Given the description of an element on the screen output the (x, y) to click on. 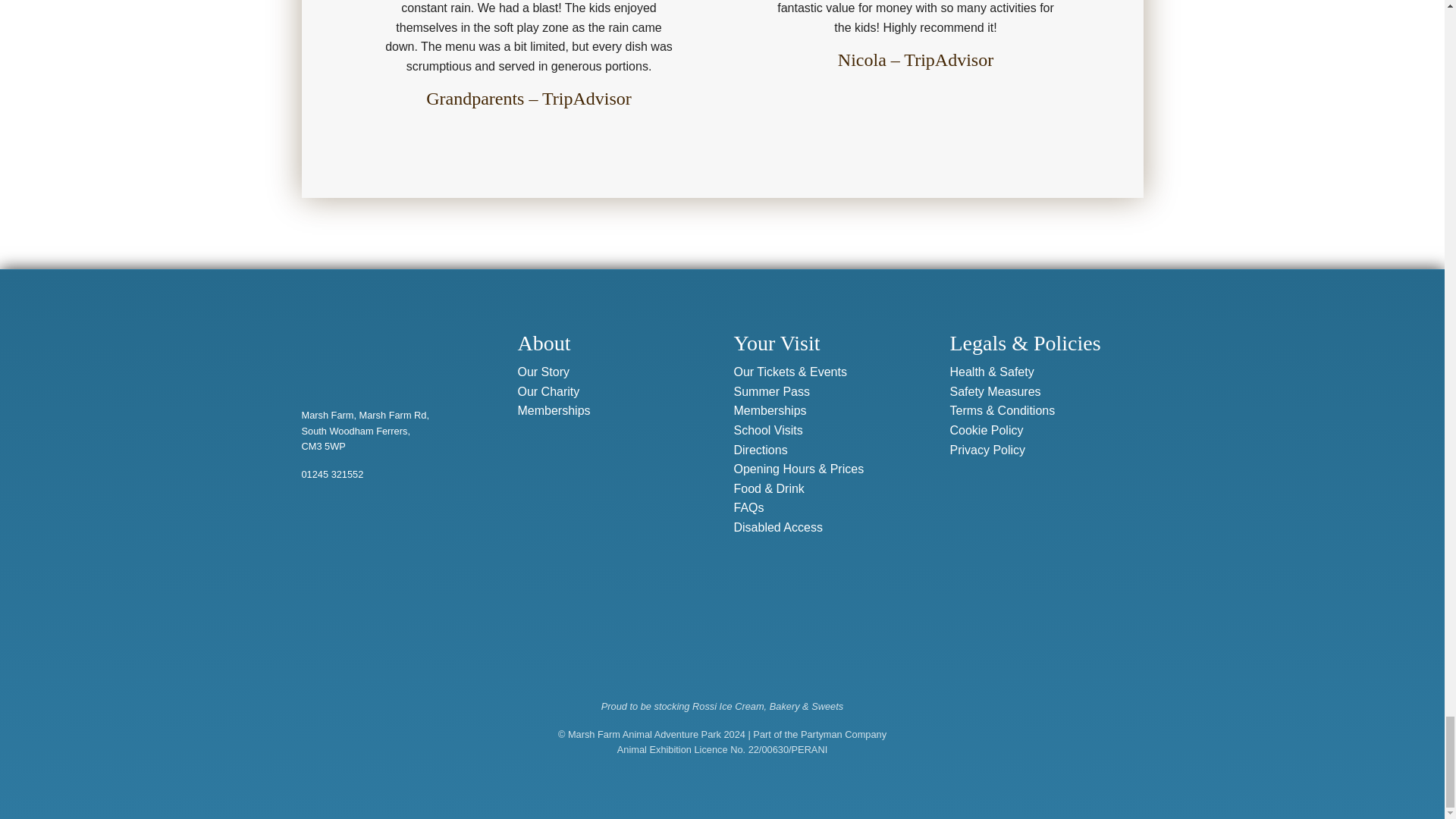
Marsh Farm - Animal Adventure Park (379, 347)
Memberships (552, 410)
Our Story (542, 370)
Our Charity (547, 390)
